Given the description of an element on the screen output the (x, y) to click on. 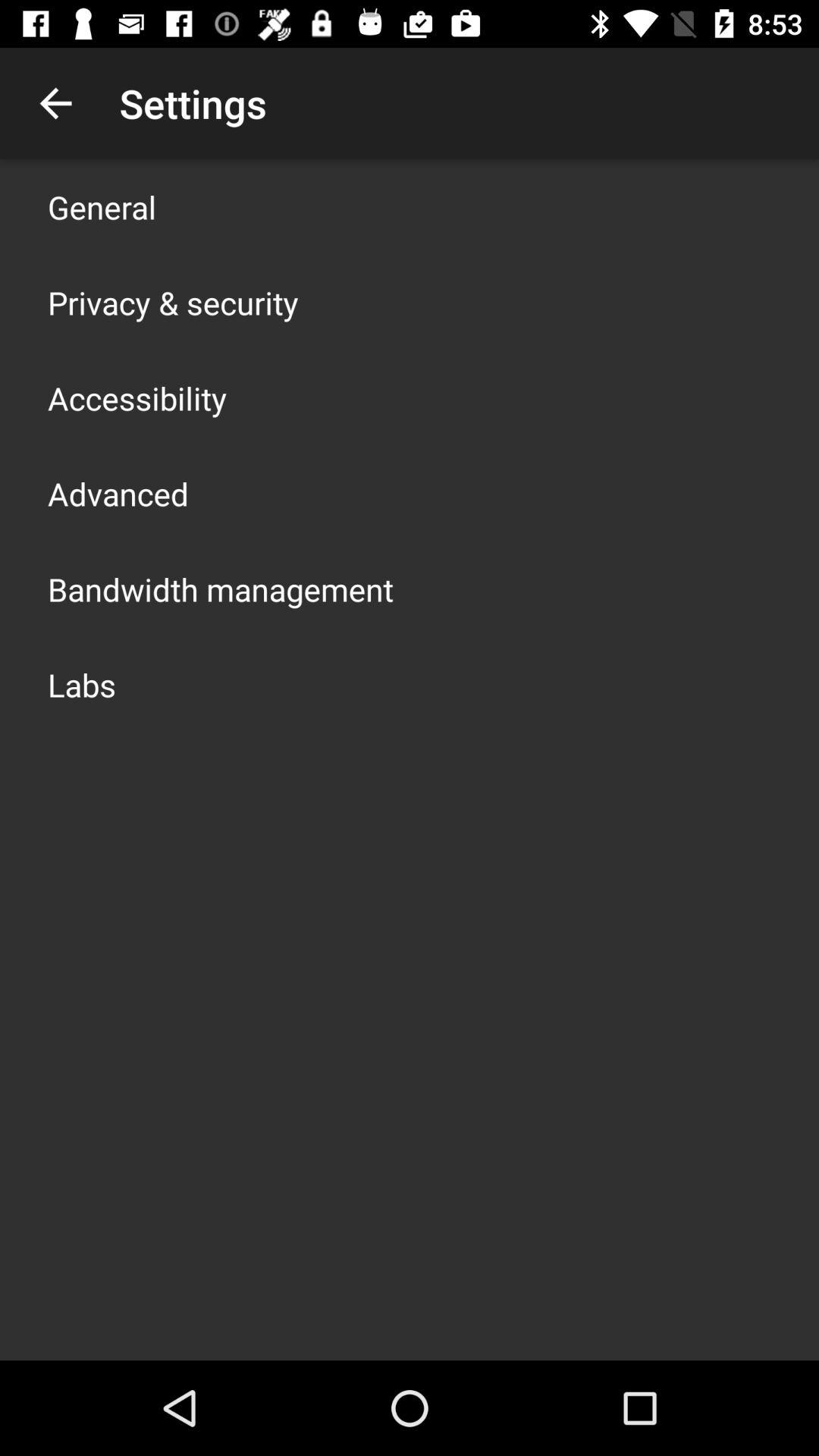
tap icon next to the settings app (55, 103)
